Given the description of an element on the screen output the (x, y) to click on. 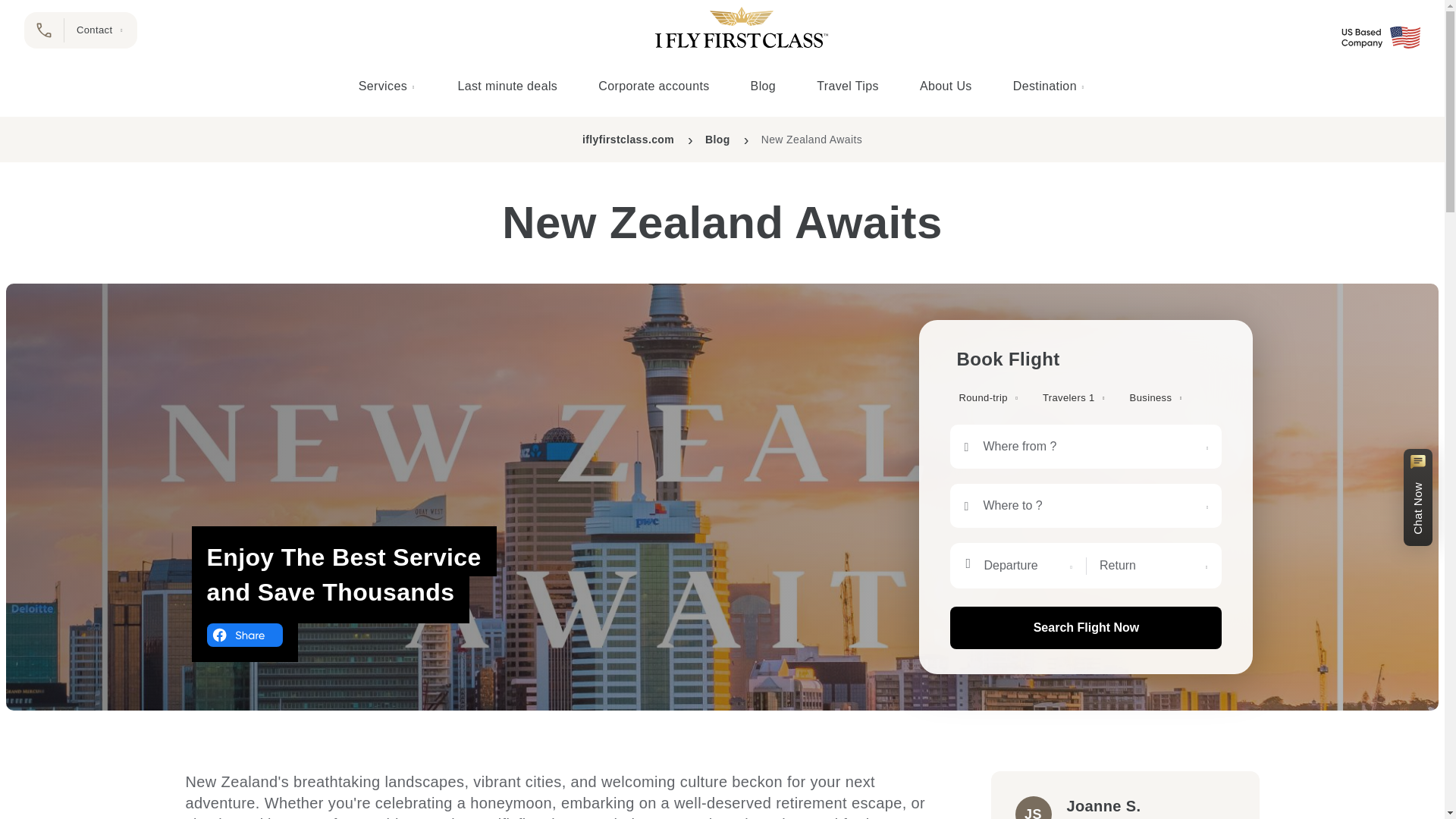
About Us (946, 86)
Last minute deals (507, 86)
Corporate accounts (653, 86)
Travel Tips (847, 86)
Blog (763, 86)
